Given the description of an element on the screen output the (x, y) to click on. 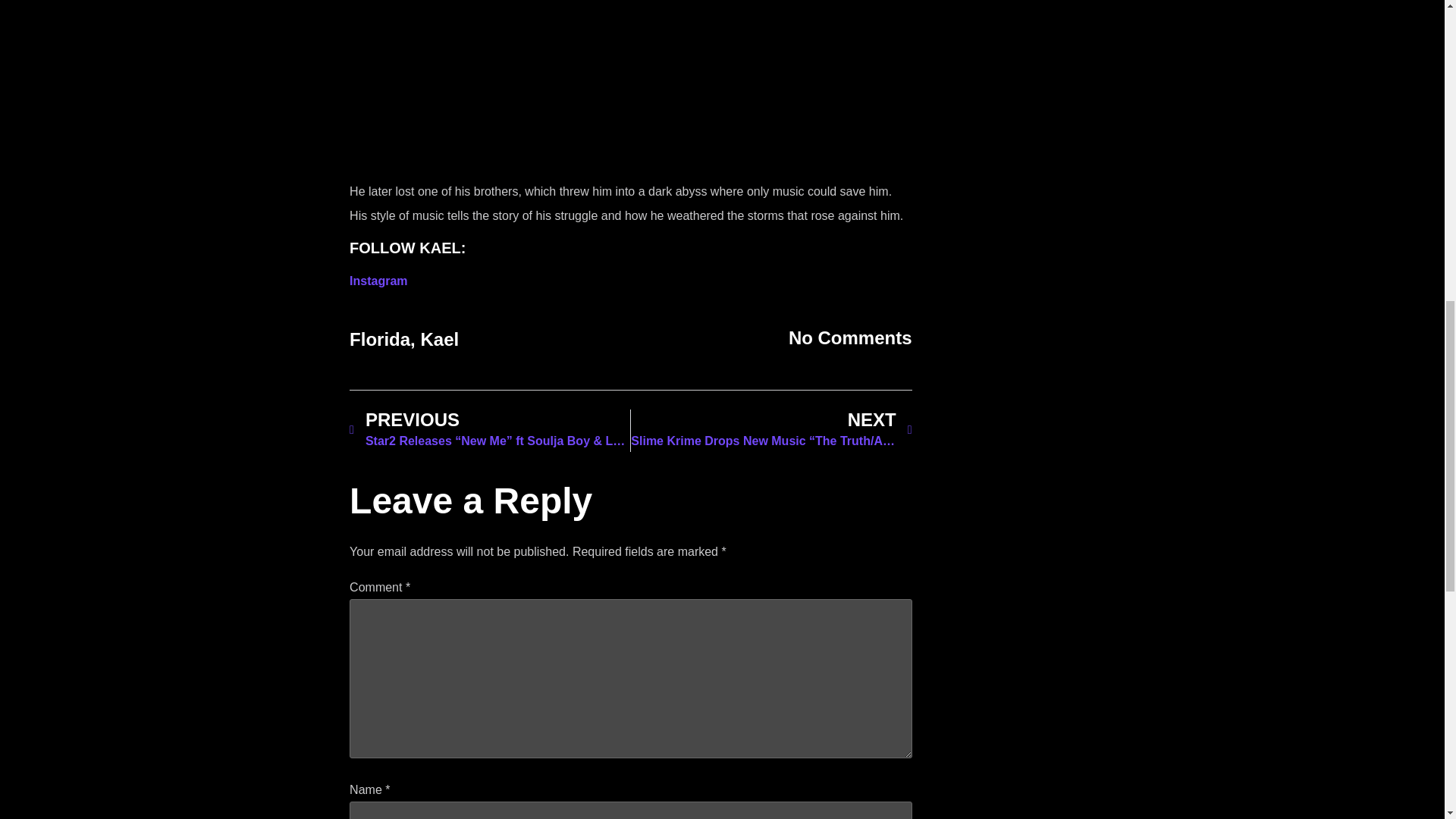
Kael (439, 339)
Instagram (378, 280)
Florida (379, 339)
No Comments (850, 337)
YouTube video player (630, 85)
